Given the description of an element on the screen output the (x, y) to click on. 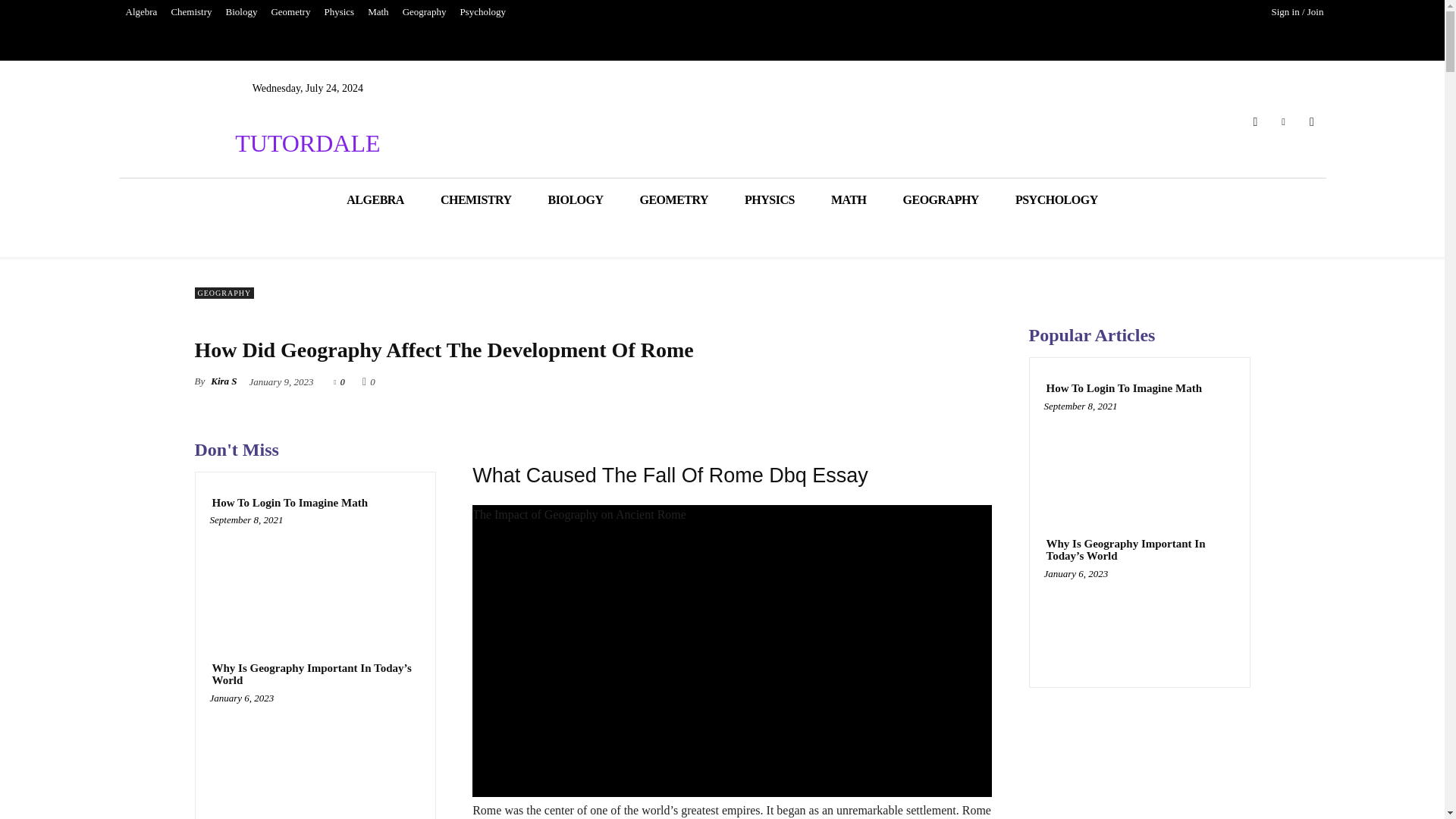
ALGEBRA (375, 199)
PHYSICS (769, 199)
Psychology (482, 12)
Math (377, 12)
Chemistry (190, 12)
Geography (424, 12)
CHEMISTRY (475, 199)
Physics (339, 12)
GEOMETRY (673, 199)
Twitter (1283, 121)
MATH (848, 199)
Facebook (1254, 121)
Geometry (290, 12)
Biology (241, 12)
BIOLOGY (575, 199)
